Given the description of an element on the screen output the (x, y) to click on. 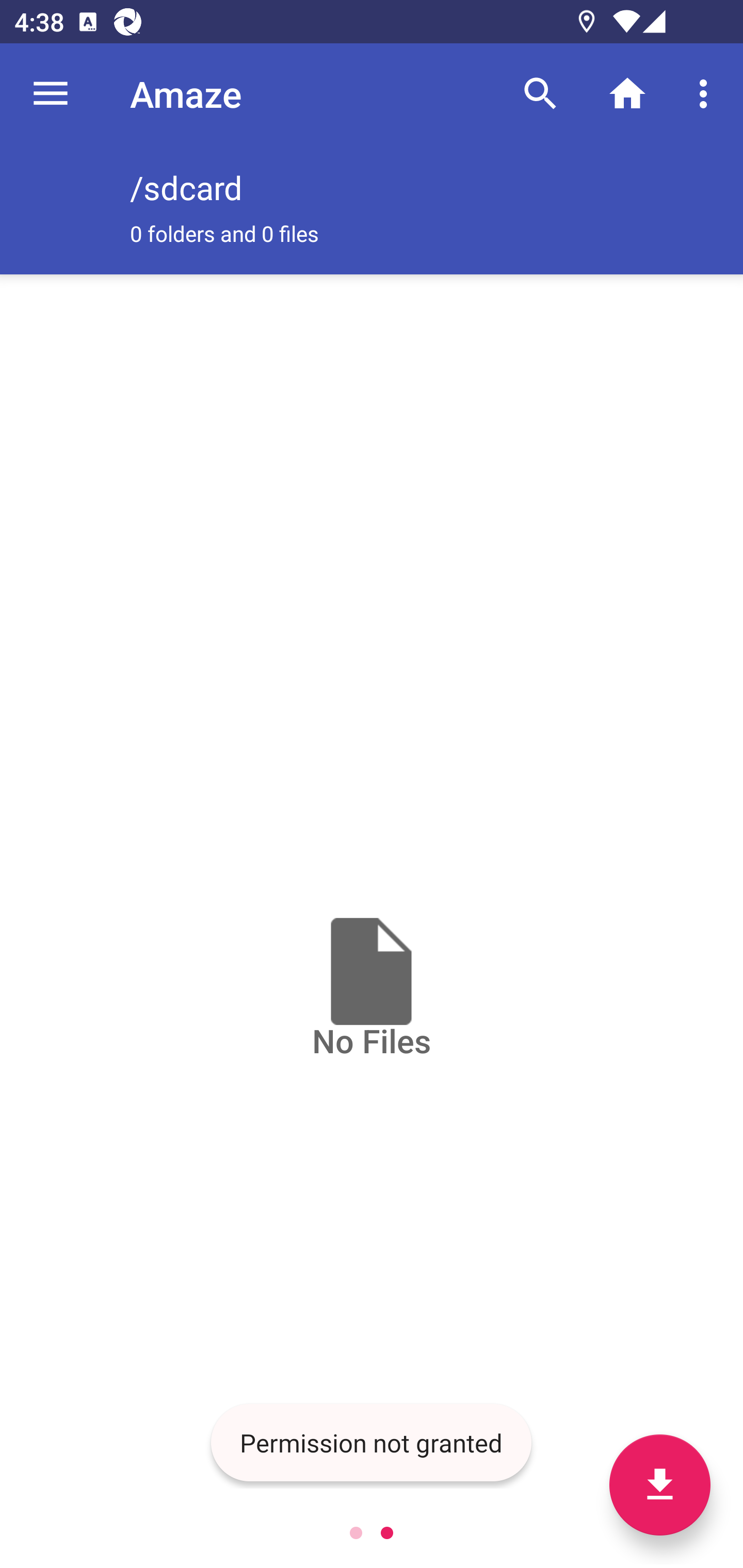
Navigate up (50, 93)
Search (540, 93)
Home (626, 93)
More options (706, 93)
